Given the description of an element on the screen output the (x, y) to click on. 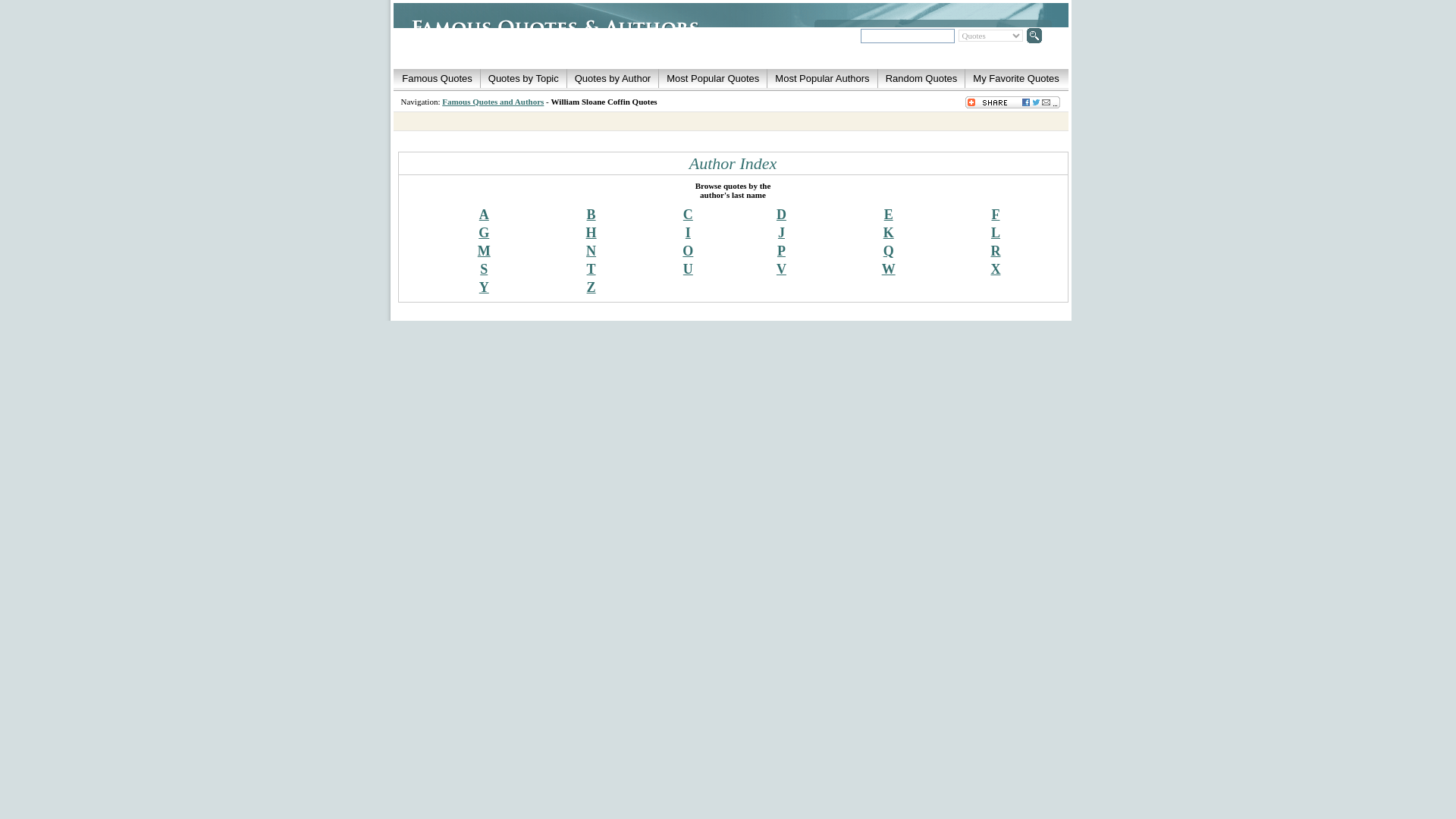
My Favorite Quotes (1015, 78)
W (888, 268)
Random Quotes (921, 78)
Quotes by Topic (523, 78)
Famous Quotes and Authors (492, 101)
Most Popular Quotes (712, 78)
Most Popular Authors (821, 78)
Famous Quotes (436, 78)
Quotes by Author (612, 78)
